Given the description of an element on the screen output the (x, y) to click on. 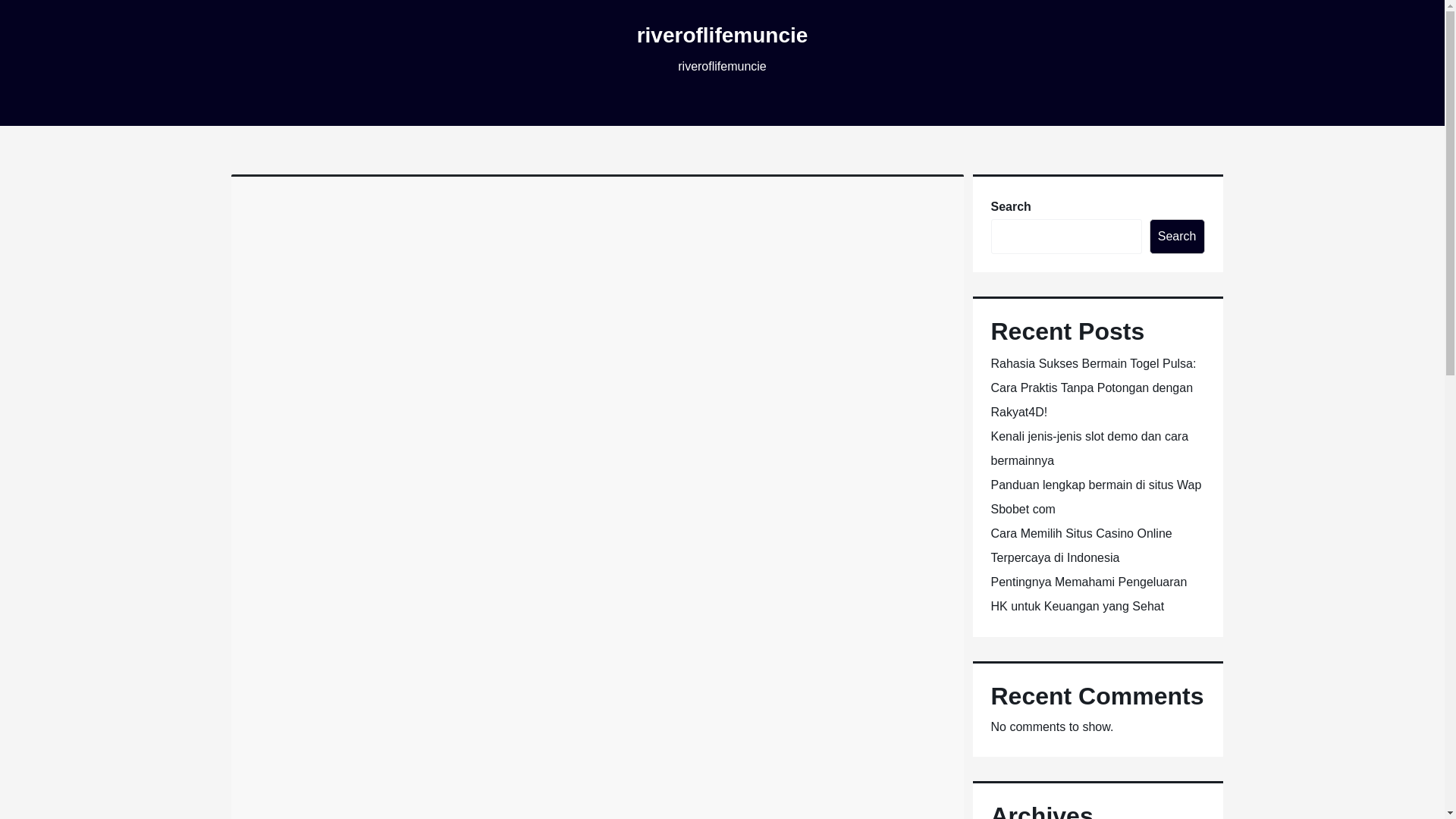
Cara Memilih Situs Casino Online Terpercaya di Indonesia (1081, 545)
Pentingnya Memahami Pengeluaran HK untuk Keuangan yang Sehat (1088, 593)
Panduan lengkap bermain di situs Wap Sbobet com (1095, 496)
Kenali jenis-jenis slot demo dan cara bermainnya (1089, 447)
Search (1177, 236)
riveroflifemuncie (722, 34)
adminss (373, 258)
gambling (433, 258)
may 16, 2022 (300, 258)
